Given the description of an element on the screen output the (x, y) to click on. 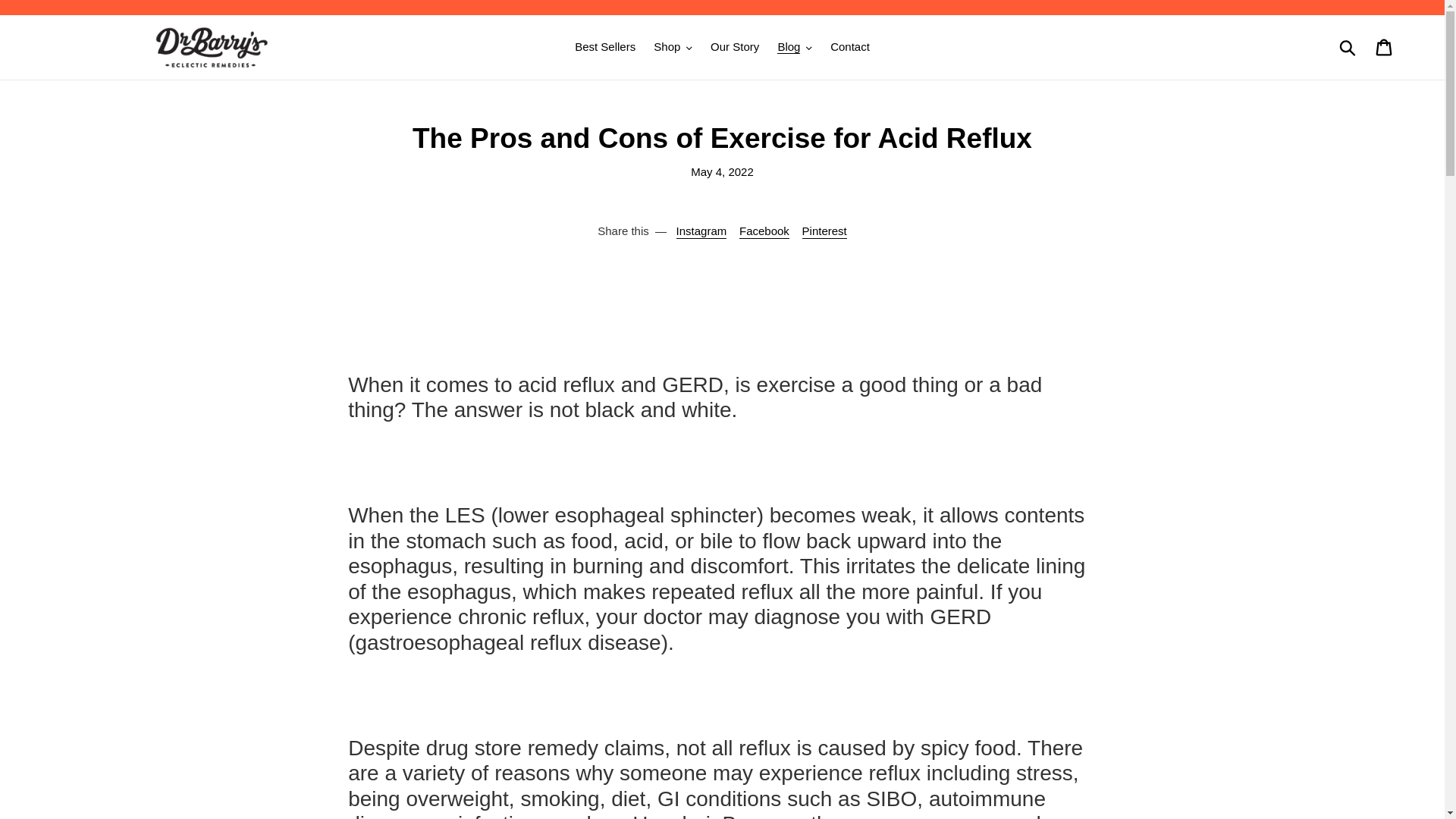
Share on Pinterest (824, 231)
Pinterest (824, 231)
Best Sellers (605, 47)
Facebook (764, 231)
Our Story (735, 47)
Cart (1385, 47)
Instagram (701, 231)
Submit (1348, 46)
Contact (849, 47)
